Given the description of an element on the screen output the (x, y) to click on. 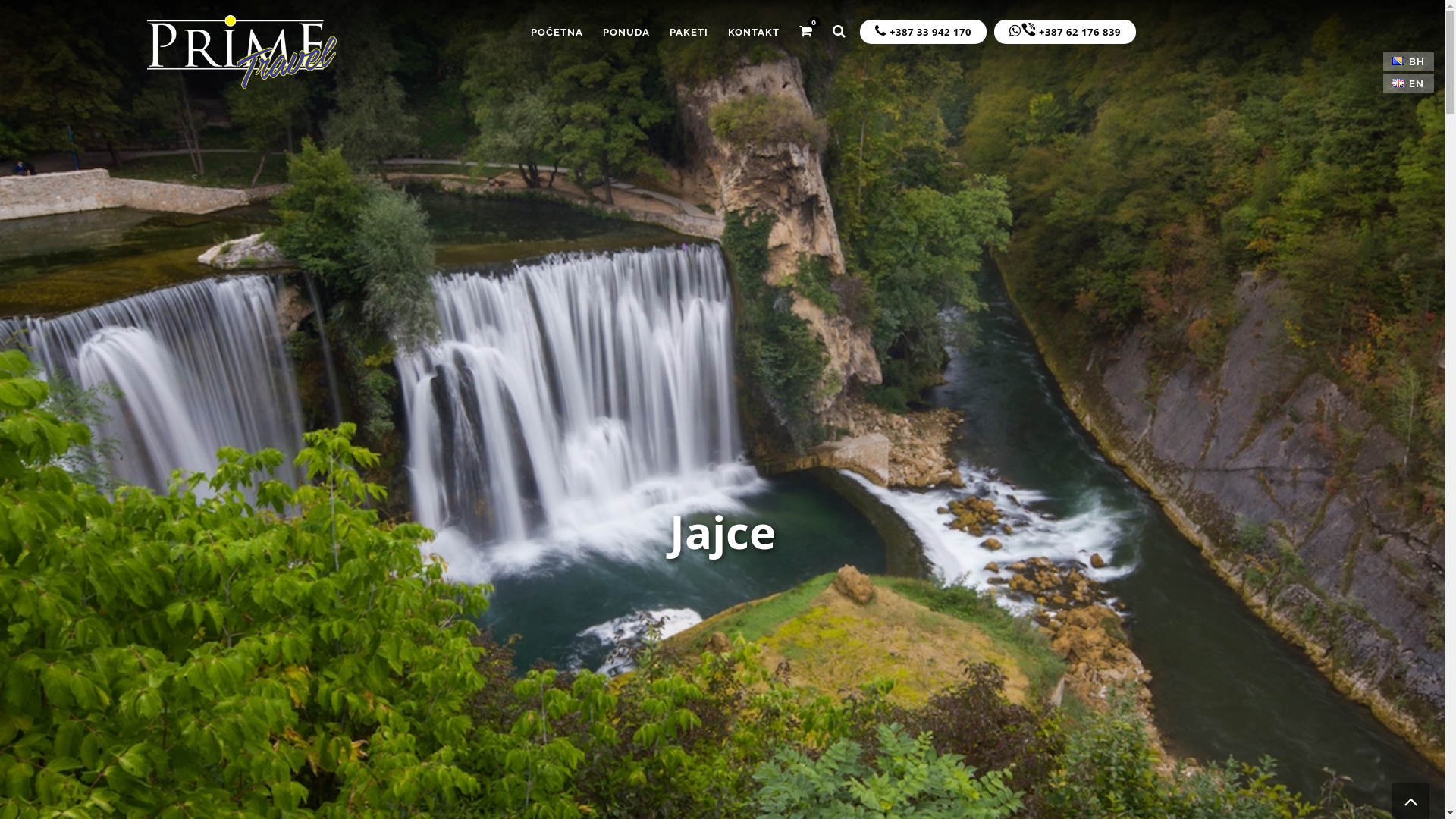
BH Element type: text (1408, 61)
+387 33 942 170 Element type: text (922, 31)
EN Element type: text (1408, 83)
PAKETI Element type: text (688, 31)
PONUDA Element type: text (625, 31)
KONTAKT Element type: text (753, 31)
+387 62 176 839 Element type: text (1064, 31)
